Given the description of an element on the screen output the (x, y) to click on. 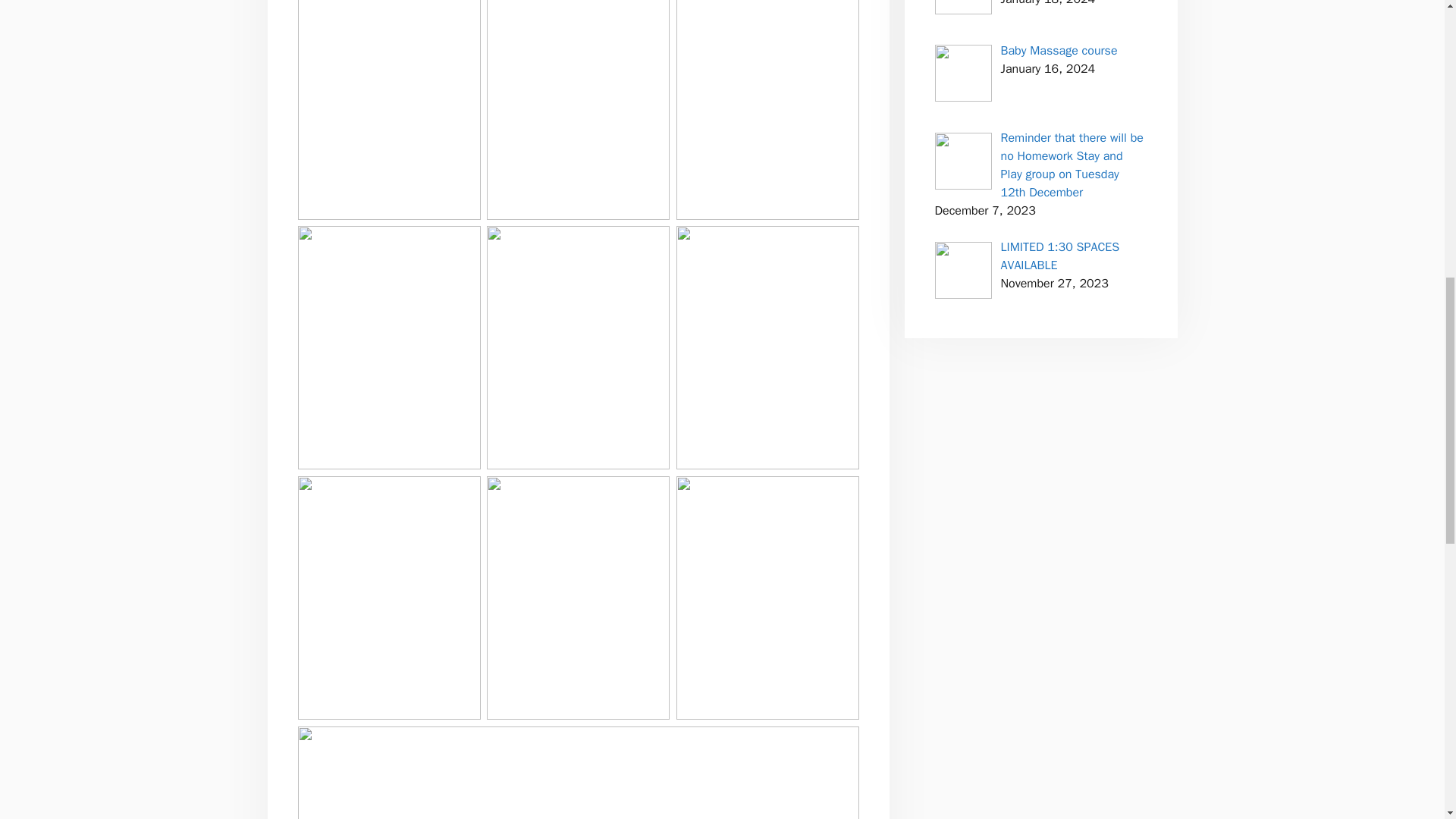
Baby Massage course (1059, 50)
LIMITED 1:30 SPACES AVAILABLE (1060, 255)
